Given the description of an element on the screen output the (x, y) to click on. 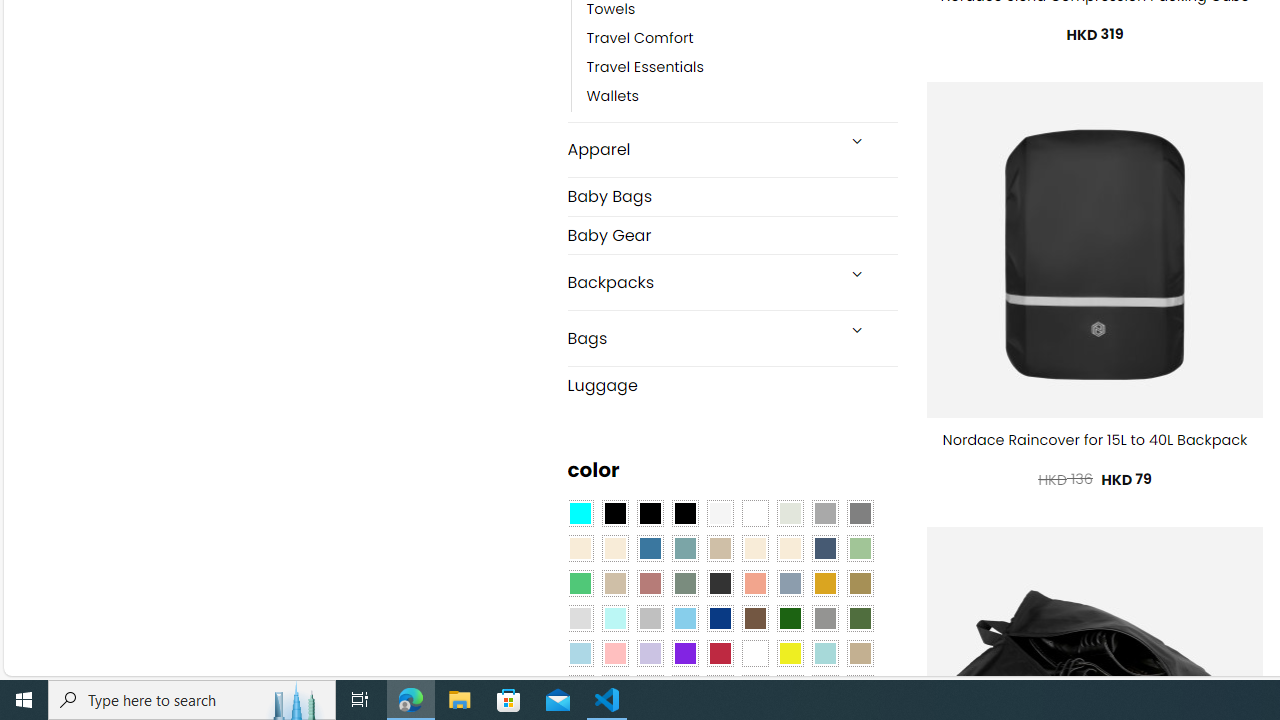
Caramel (755, 548)
Luggage (732, 384)
Sky Blue (684, 619)
Gold (824, 583)
Baby Gear (732, 234)
Brown (755, 619)
Black (650, 514)
Light Purple (650, 653)
Green (859, 619)
Mint (614, 619)
Red (719, 653)
Navy Blue (719, 619)
Blue Sage (684, 548)
